Given the description of an element on the screen output the (x, y) to click on. 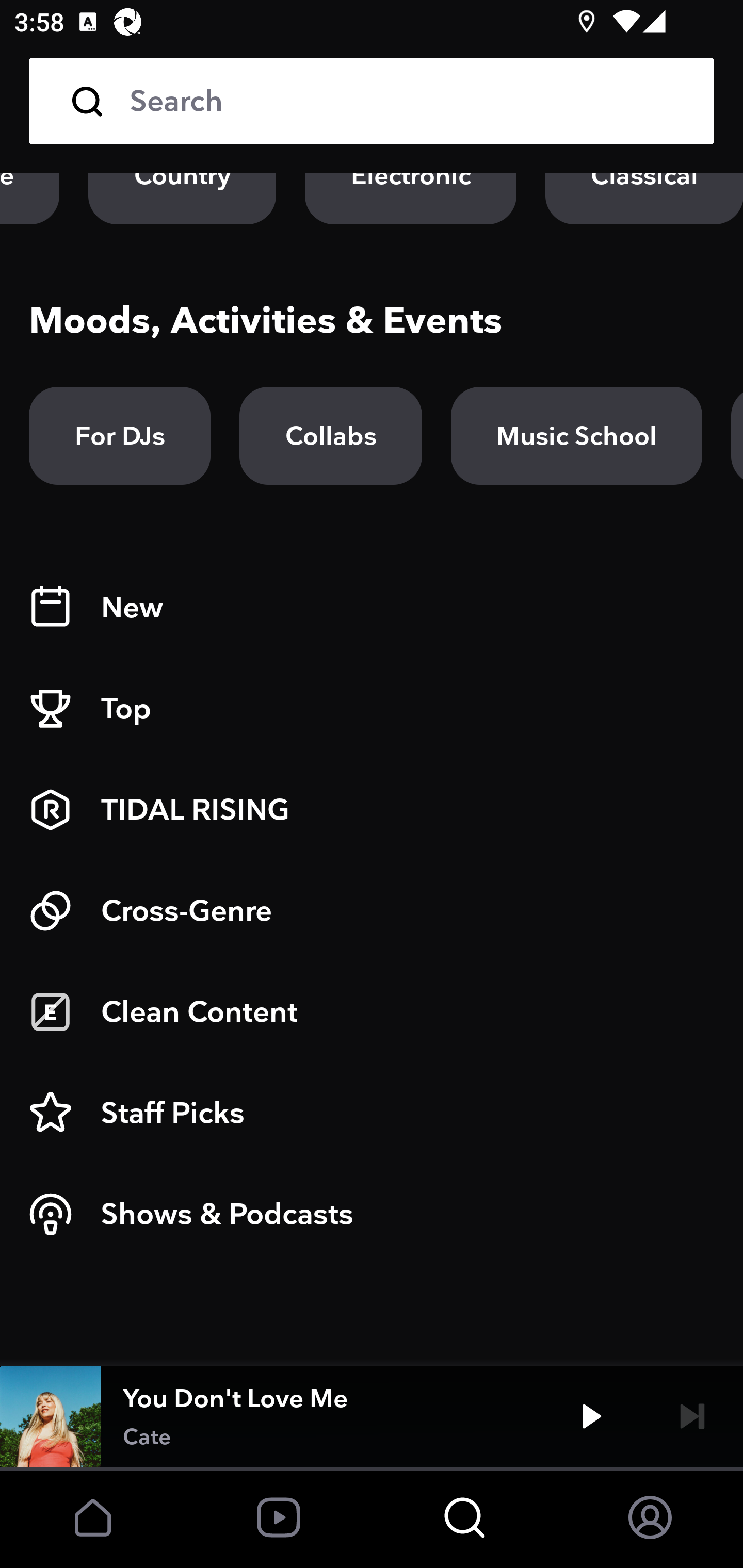
Search (371, 101)
Search (407, 100)
For DJs (119, 435)
Collabs (330, 435)
Music School (576, 435)
New (371, 607)
Top (371, 708)
TIDAL RISING (371, 809)
Cross-Genre (371, 910)
Clean Content (371, 1012)
Staff Picks (371, 1113)
Shows & Podcasts (371, 1214)
You Don't Love Me Cate Play (371, 1416)
Play (590, 1416)
